Given the description of an element on the screen output the (x, y) to click on. 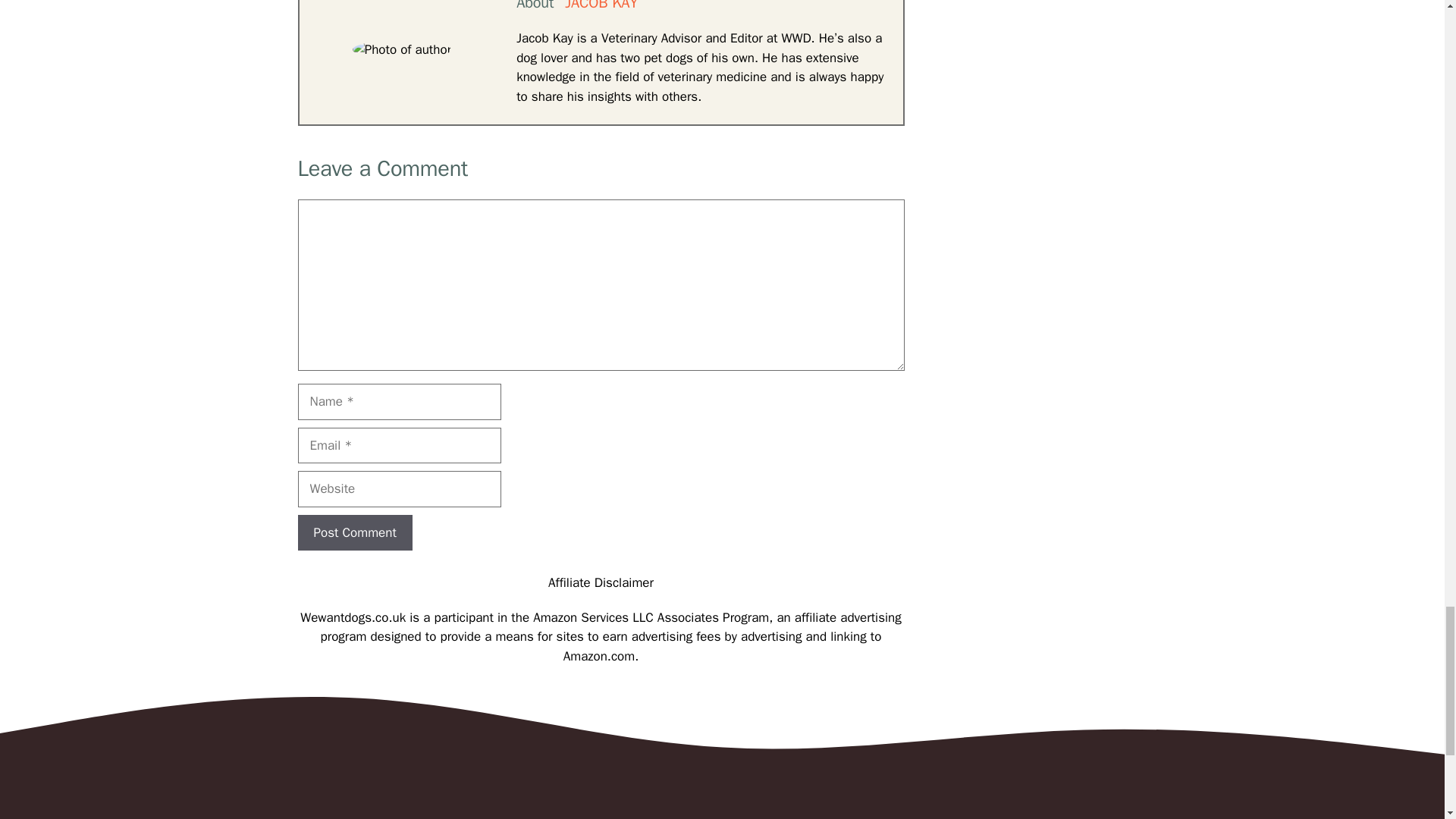
JACOB KAY (600, 6)
Post Comment (354, 533)
Post Comment (354, 533)
